Given the description of an element on the screen output the (x, y) to click on. 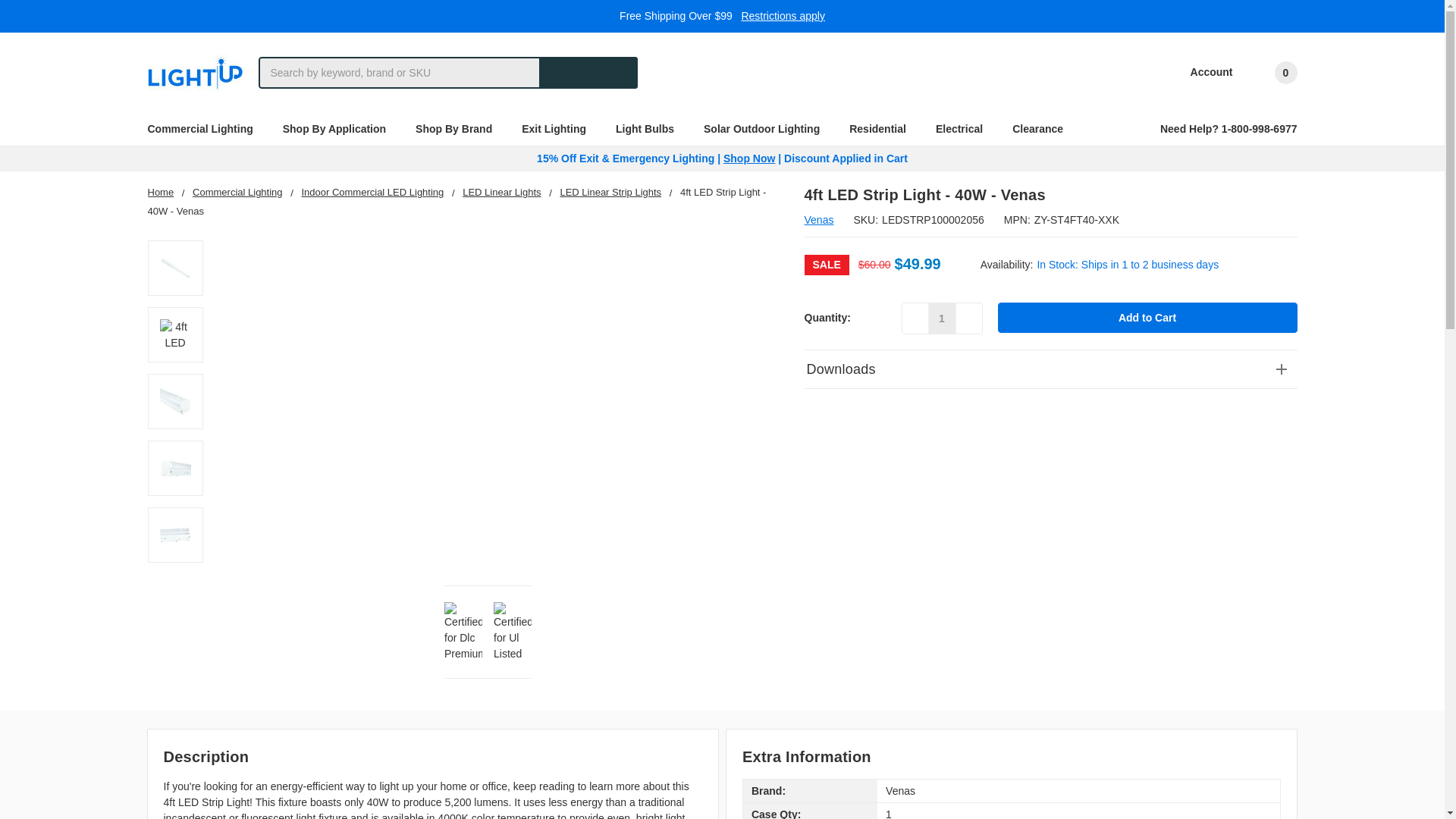
Restrictions apply (783, 15)
4ft LED Strip Light - 40W - Venas (174, 534)
1 (942, 318)
4ft LED Strip Light - 40W - Venas (174, 267)
4ft LED Strip Light - 40W - Venas (174, 334)
Shop By Application (340, 129)
Account (1201, 72)
4ft LED Strip Light - 40W - Venas (174, 400)
0 (1273, 72)
LightUp (194, 72)
